Given the description of an element on the screen output the (x, y) to click on. 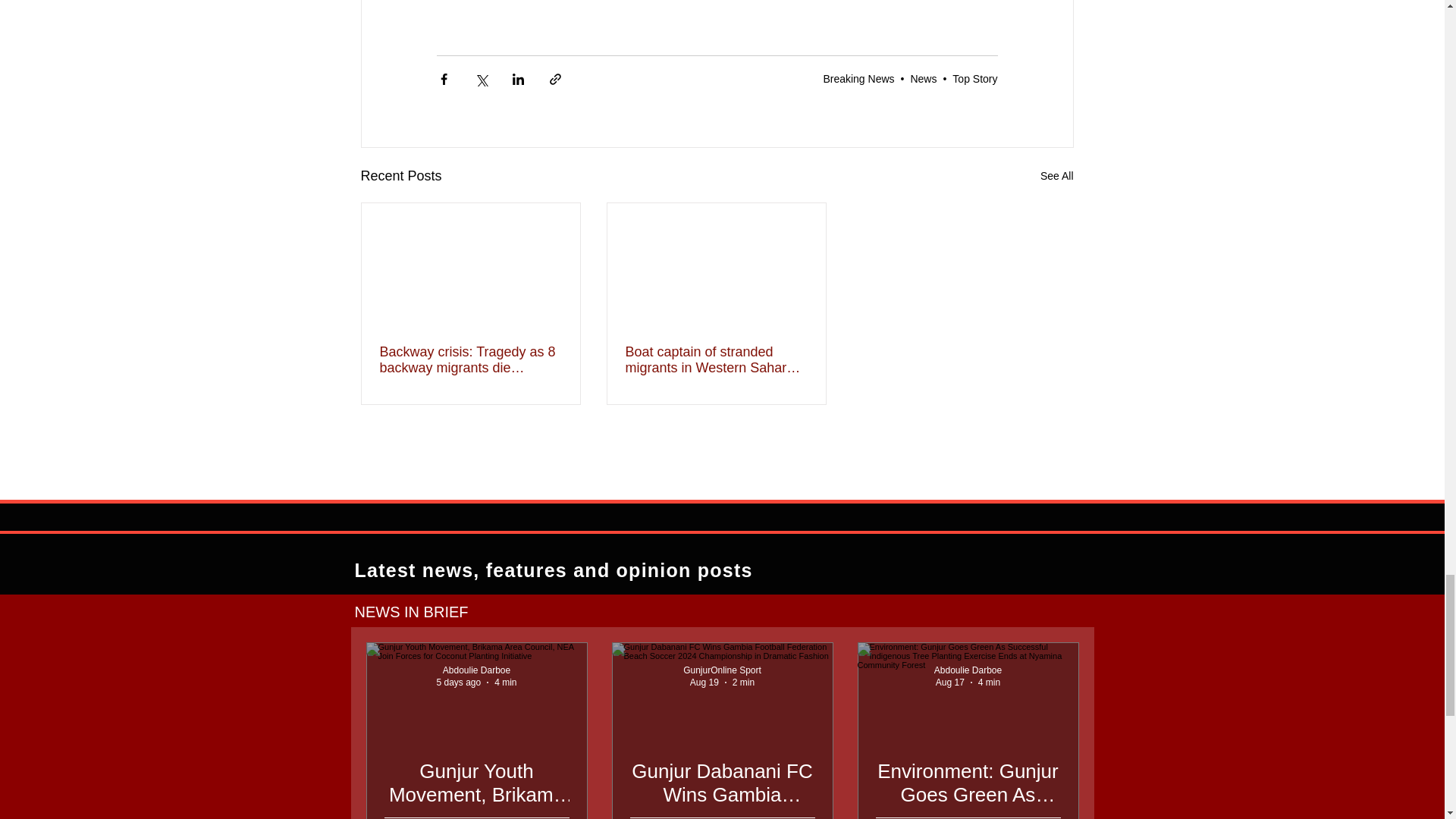
4 min (505, 682)
Abdoulie Darboe (967, 670)
5 days ago (457, 682)
GunjurOnline Sport (721, 670)
Aug 17 (949, 682)
2 min (743, 682)
Aug 19 (704, 682)
4 min (989, 682)
Abdoulie Darboe (476, 670)
